Given the description of an element on the screen output the (x, y) to click on. 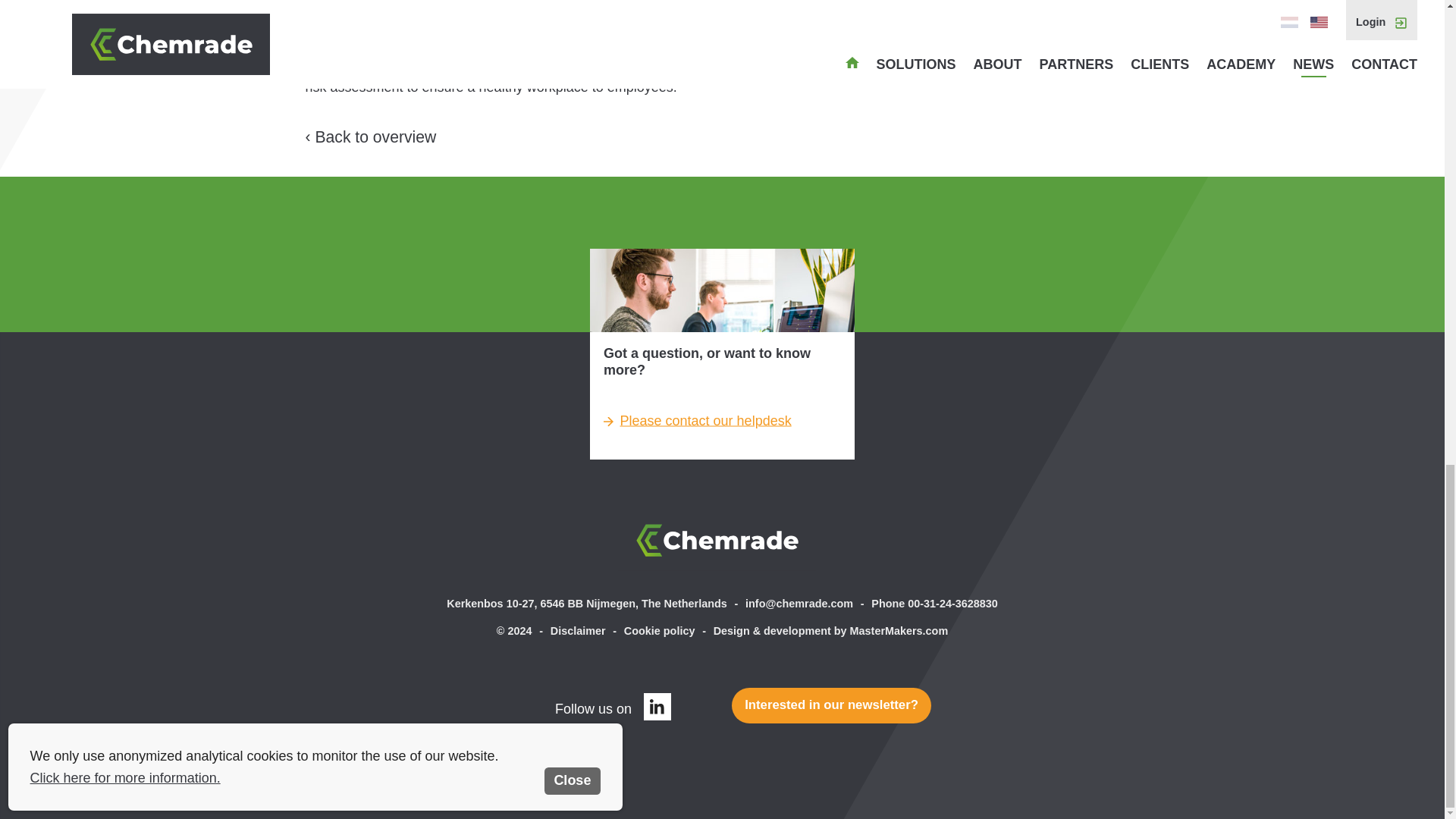
Chemrade Software BV (722, 539)
Cookie policy (659, 630)
Follow us on LinkedIn (657, 706)
Interested in our newsletter? (831, 705)
Disclaimer (577, 630)
